Given the description of an element on the screen output the (x, y) to click on. 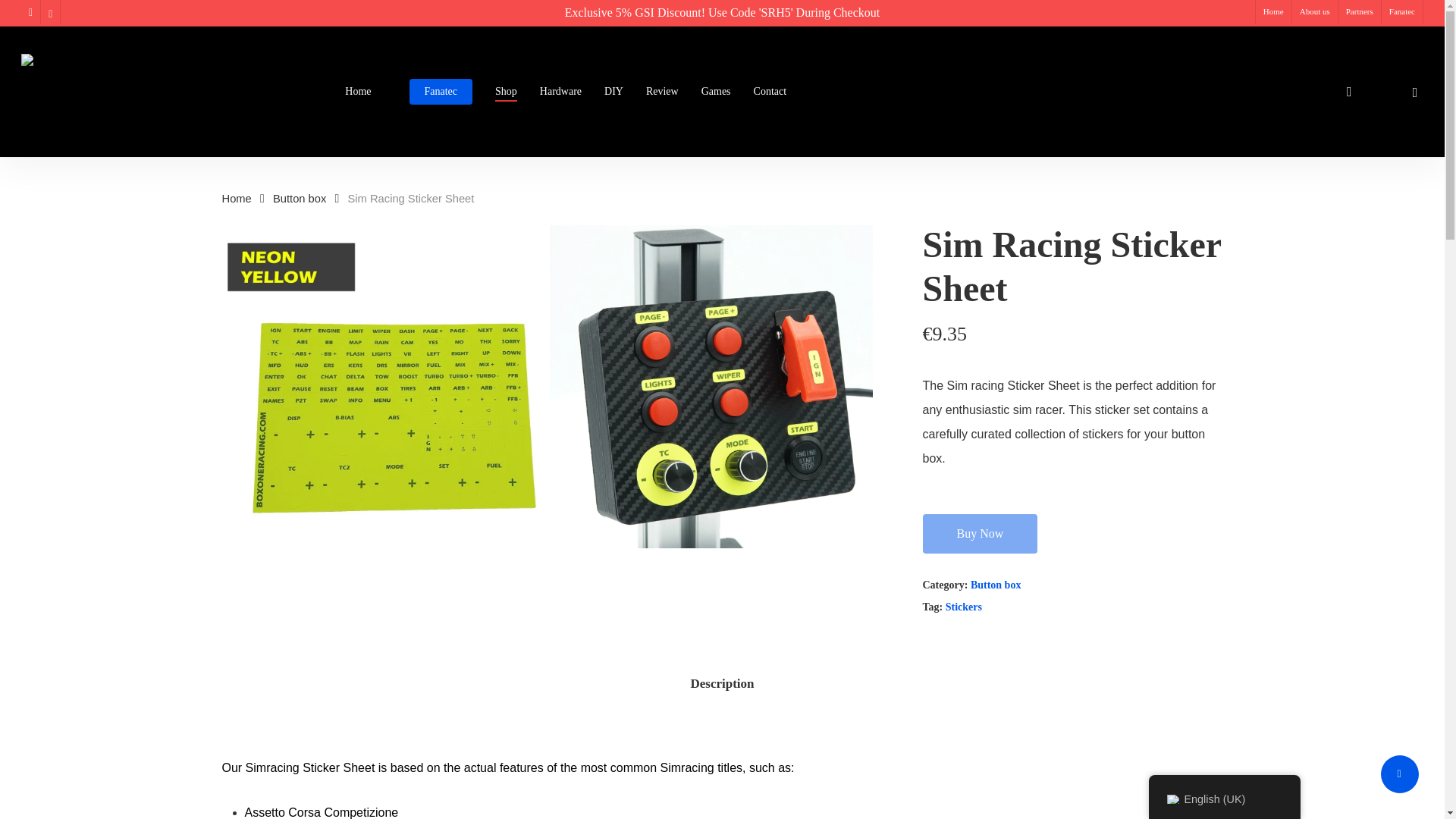
Button box (996, 584)
Home (357, 91)
Partners (1359, 11)
Home (235, 198)
Description (722, 684)
DIY (613, 91)
Contact (770, 91)
Stickers (962, 606)
Sim Racing Sticker Sheet Box One Racing (382, 386)
Fanatec (441, 91)
